Given the description of an element on the screen output the (x, y) to click on. 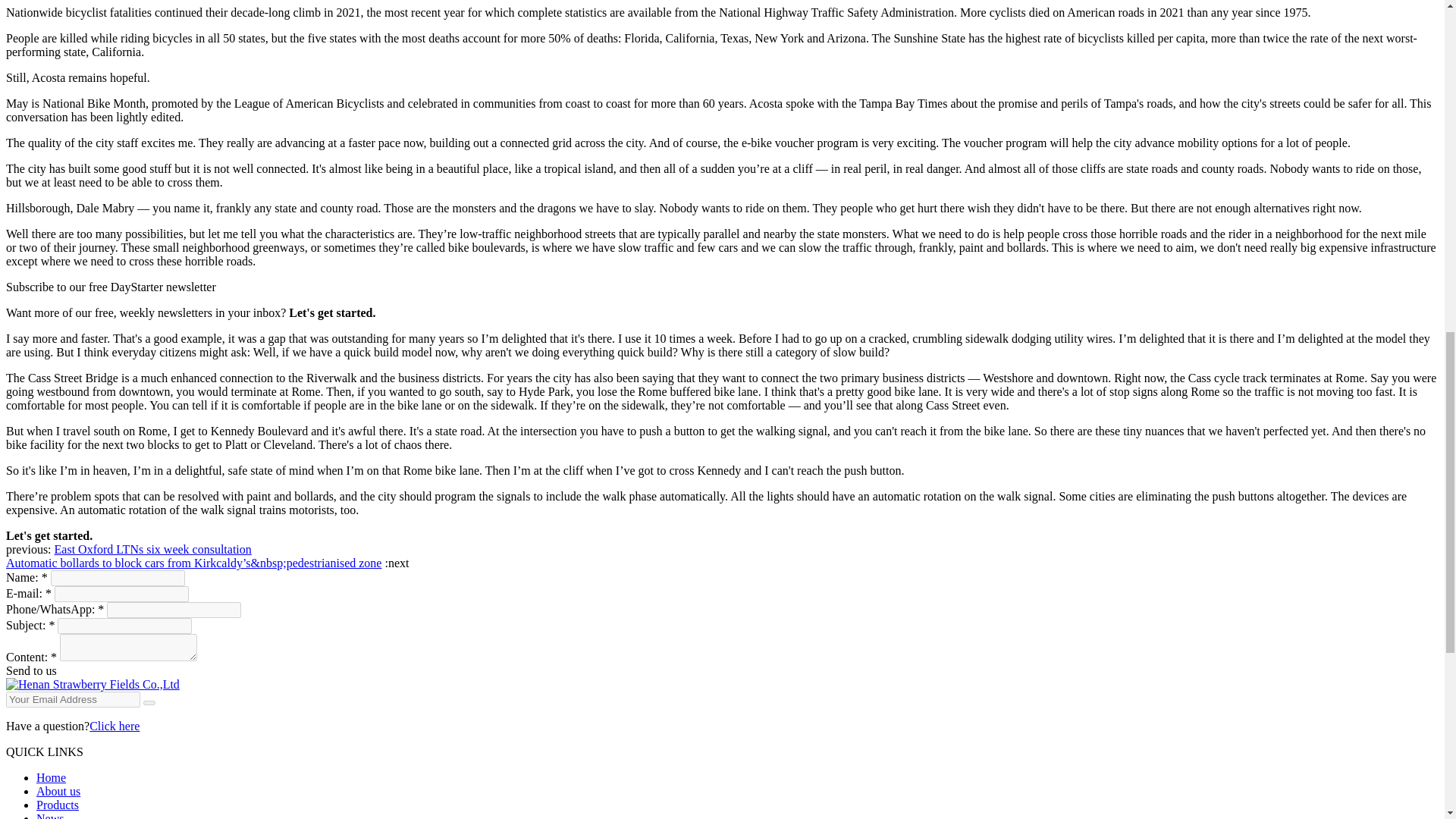
Henan Strawberry Fields Co.,Ltd (92, 684)
Email (148, 703)
East Oxford LTNs six week consultation (153, 549)
